Given the description of an element on the screen output the (x, y) to click on. 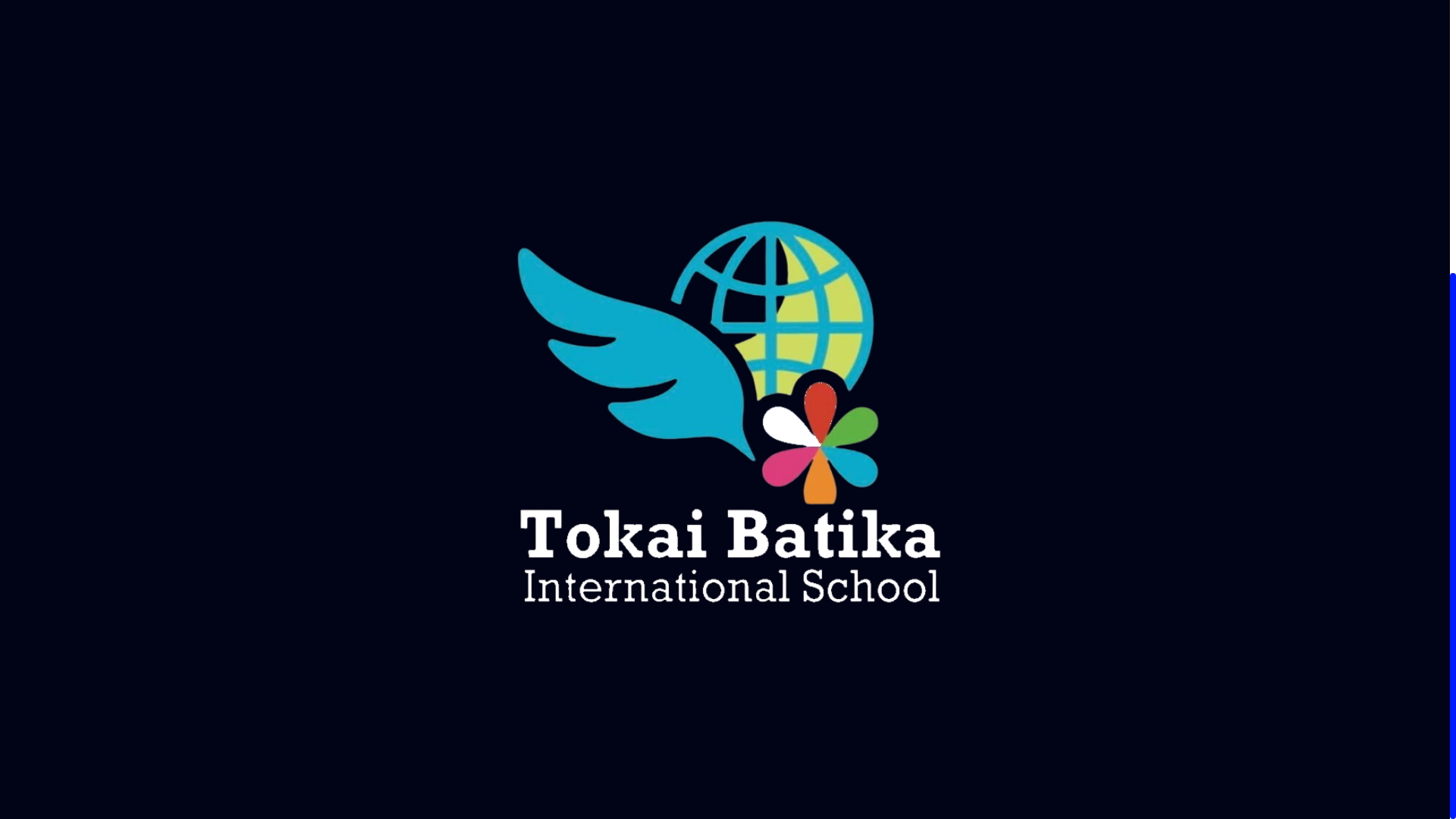
Gallery (747, 617)
Go Back To Home (724, 313)
Contact (747, 649)
Phone: 0568-81-8011 (1047, 555)
About Us (747, 586)
Home (747, 555)
Location:Chome 2-1Himeikedori, Nagoya, Aichi (1047, 617)
